Given the description of an element on the screen output the (x, y) to click on. 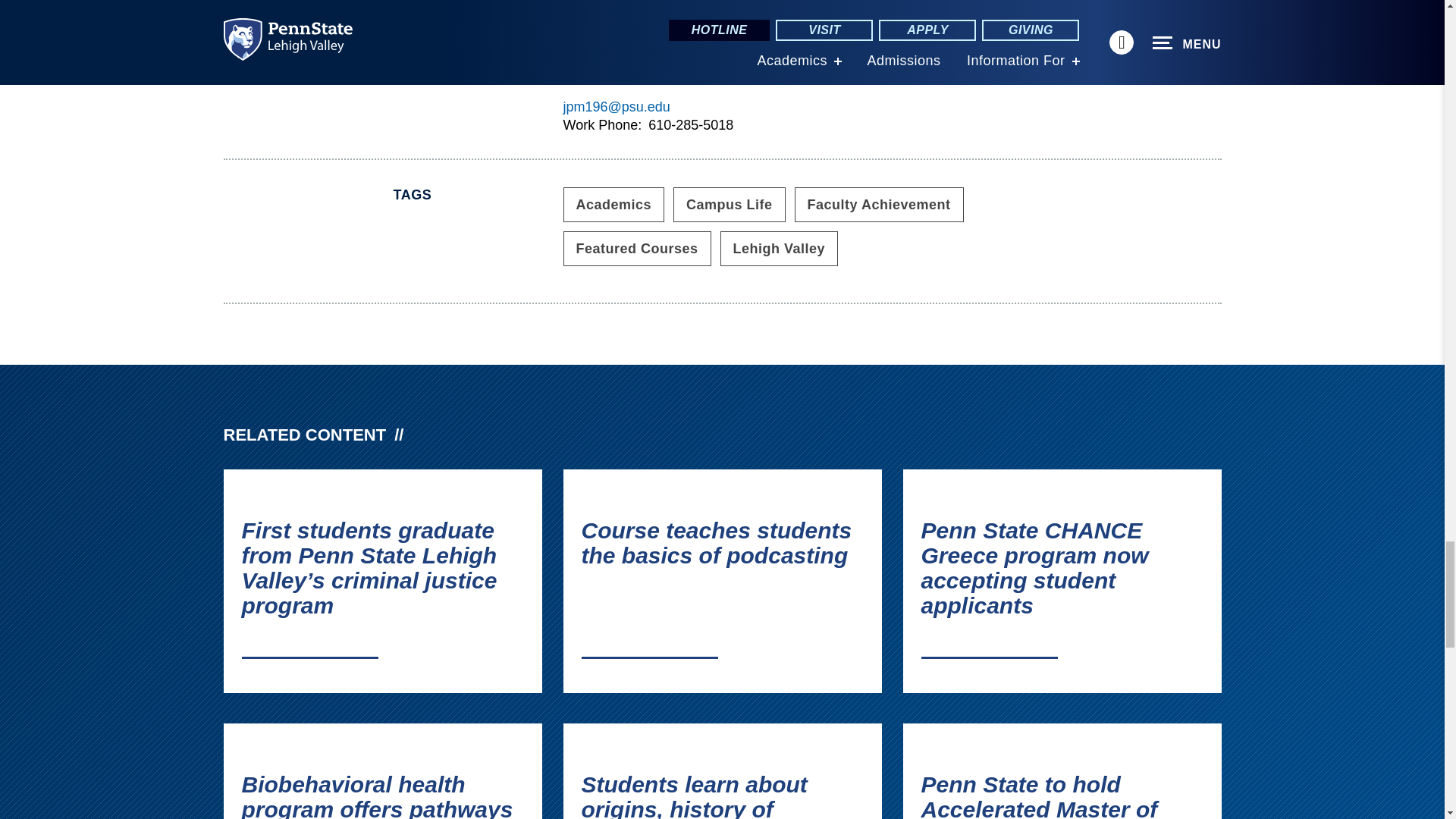
Content tagged with Academics (612, 204)
Content tagged with Featured Courses (636, 248)
Content tagged with Campus Life (729, 204)
Content tagged with Lehigh Valley (779, 248)
Content tagged with Faculty Achievement (878, 204)
